Given the description of an element on the screen output the (x, y) to click on. 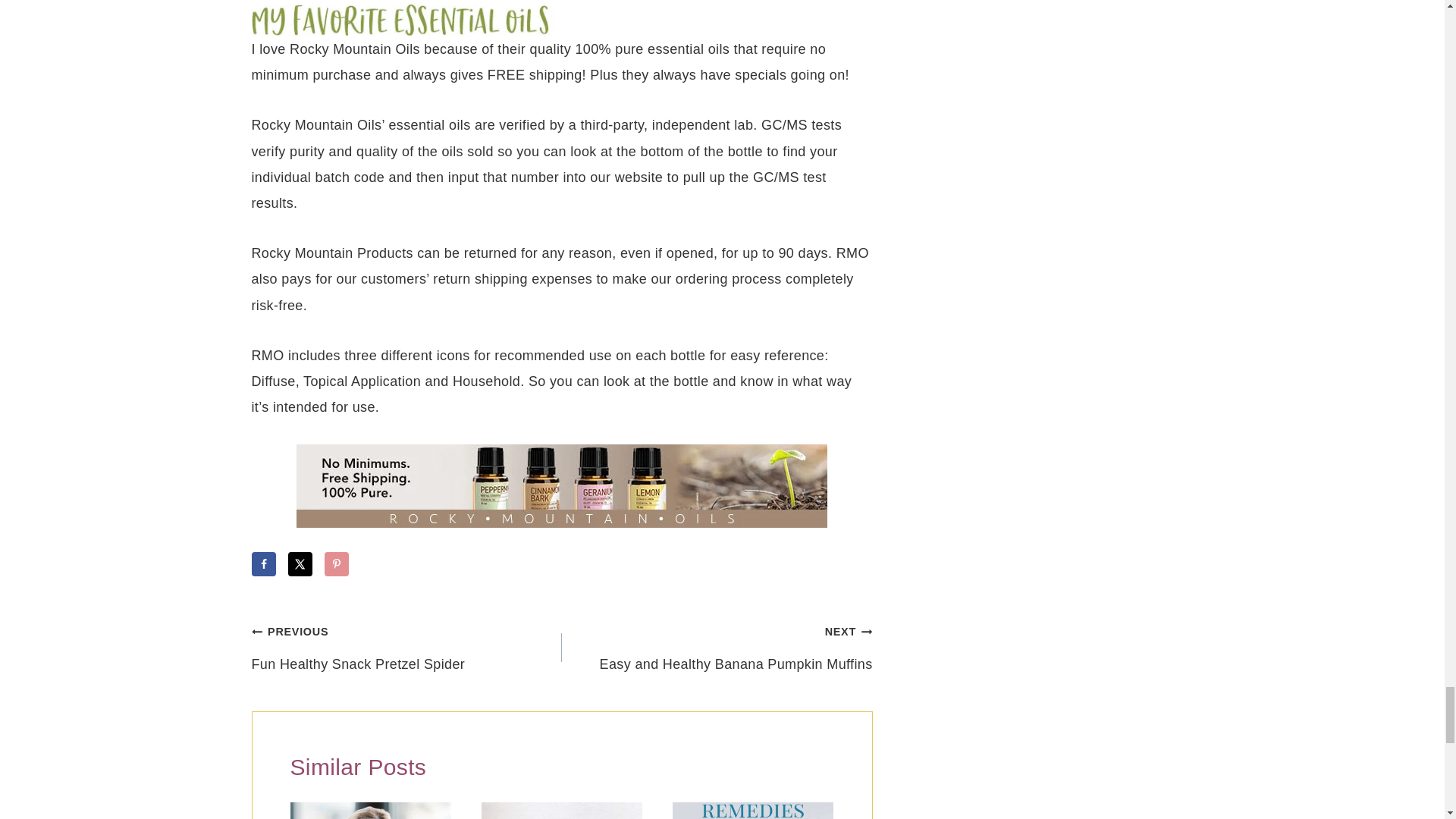
Share on X (300, 564)
Save to Pinterest (336, 564)
Share on Facebook (263, 564)
